Given the description of an element on the screen output the (x, y) to click on. 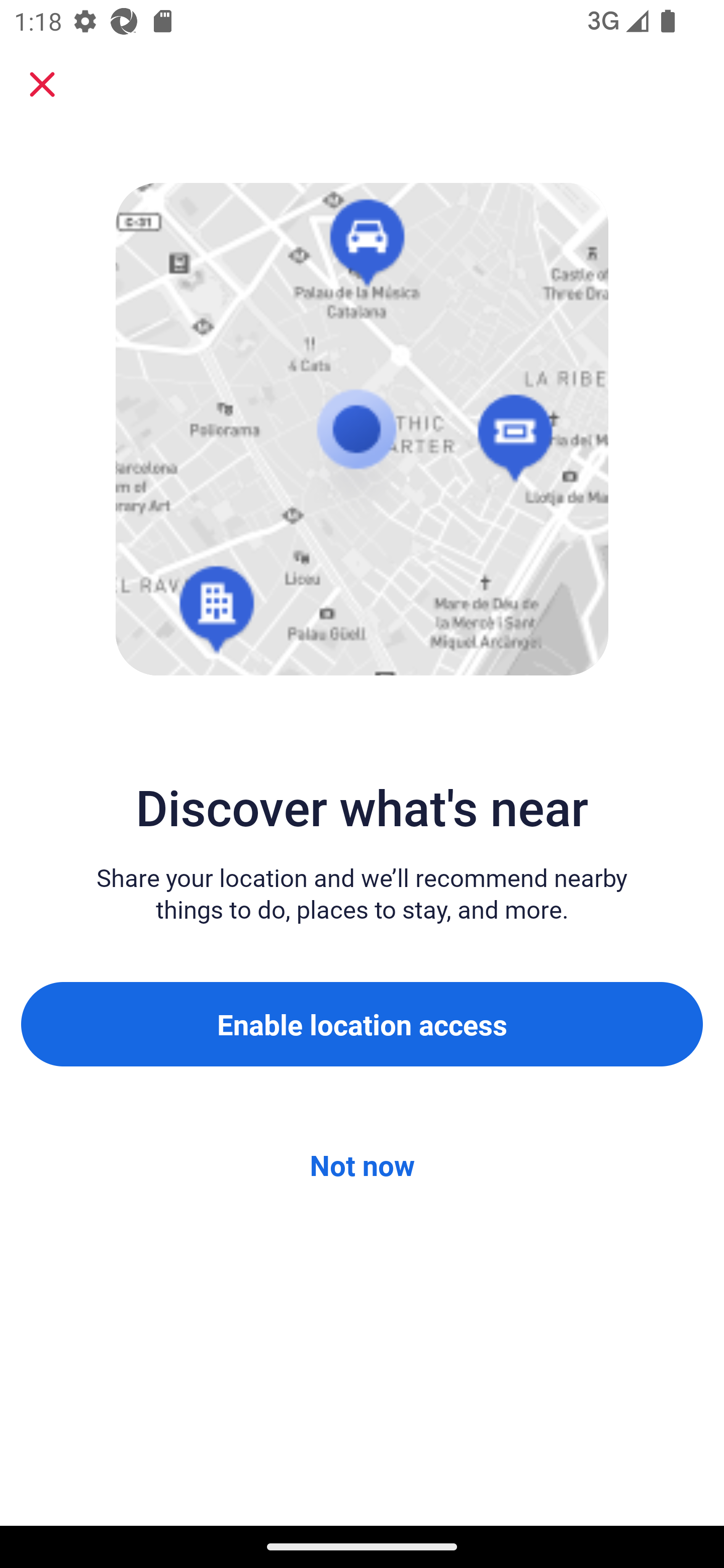
Close sheet (42, 84)
Enable location access (361, 1023)
Not now (362, 1164)
